Given the description of an element on the screen output the (x, y) to click on. 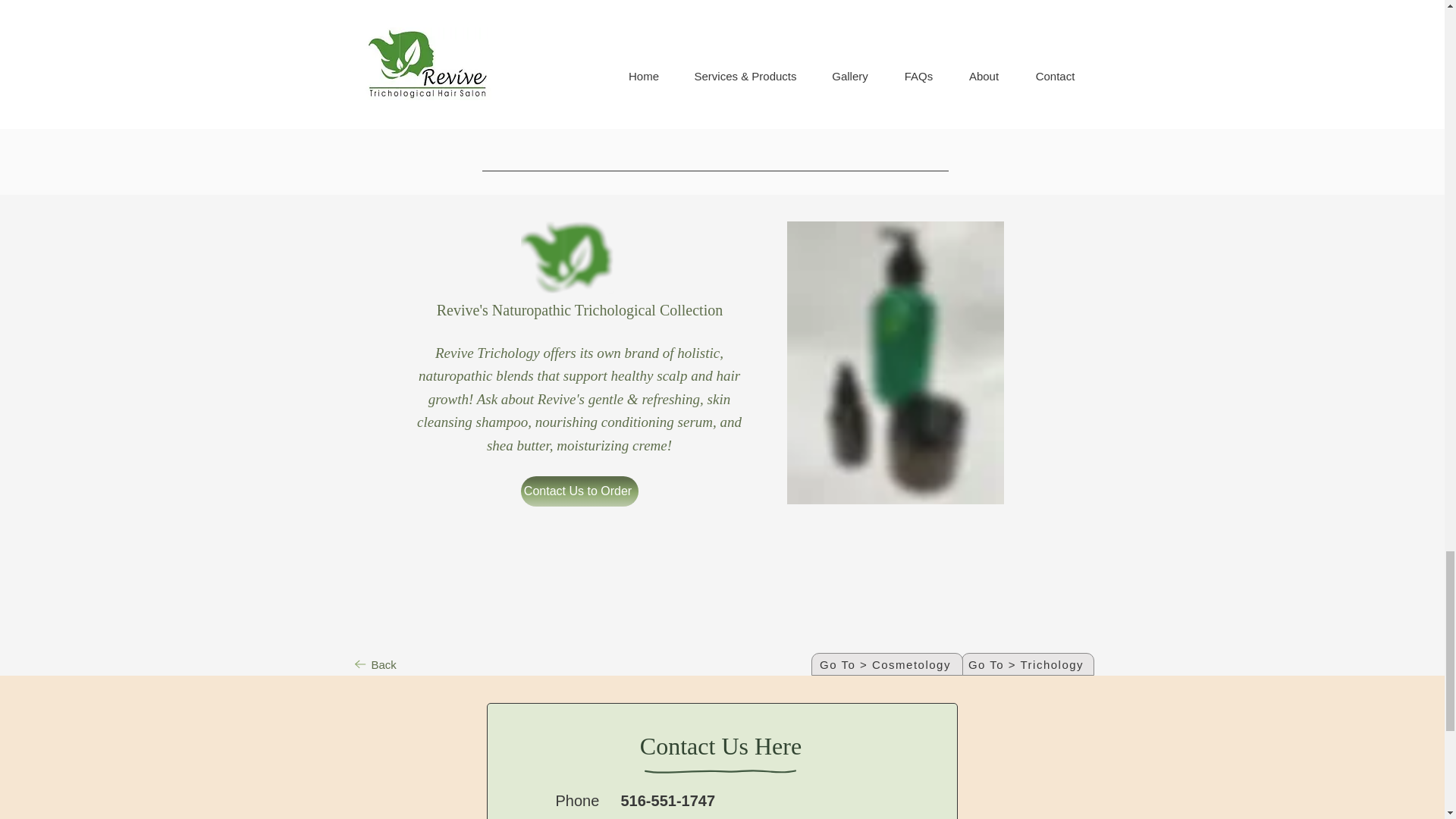
Revive Trichology offers its own brand of  (556, 352)
Contact Us to Order (578, 490)
Back (376, 663)
Contact Us to Order (894, 30)
